Given the description of an element on the screen output the (x, y) to click on. 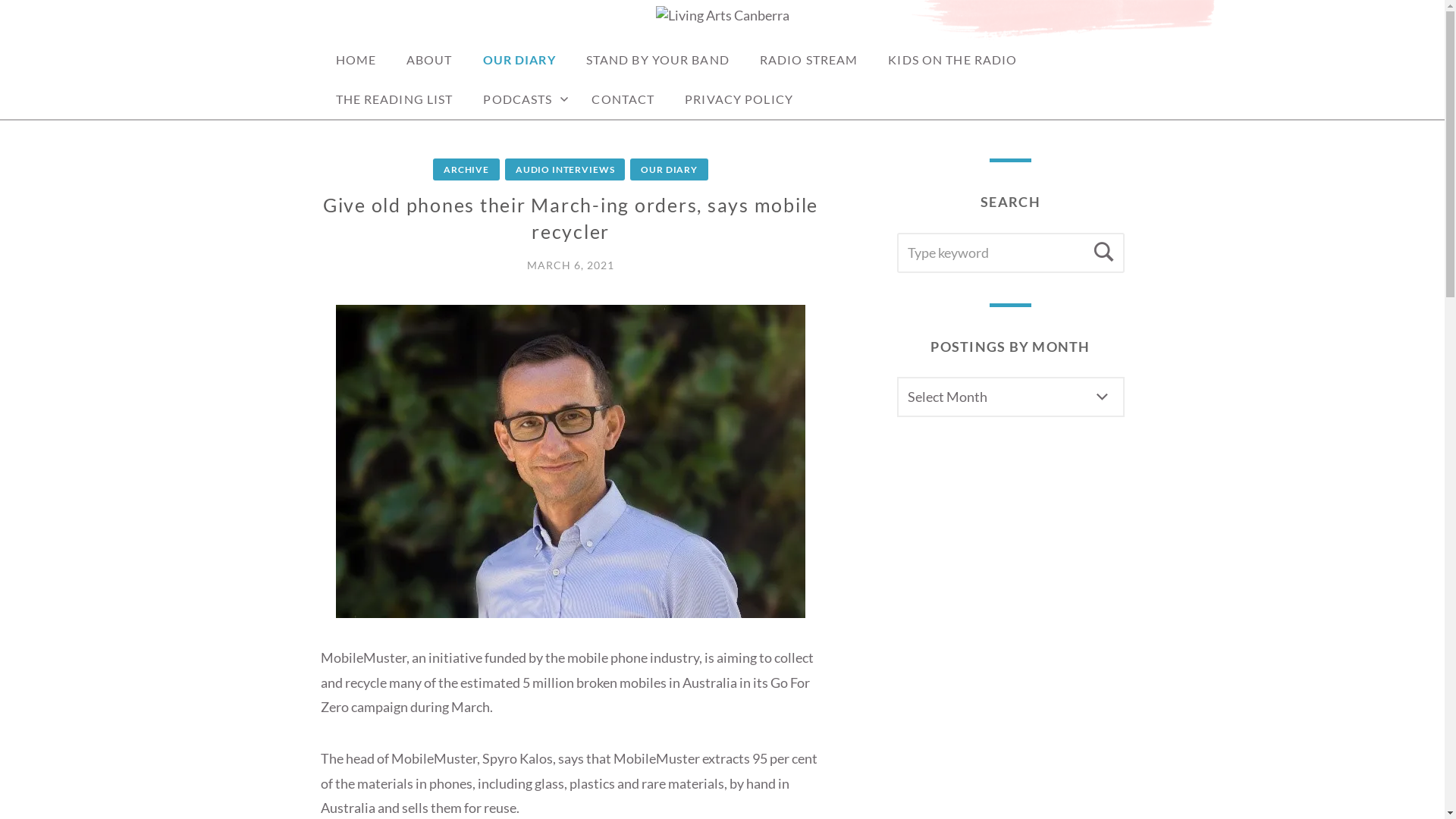
AUDIO INTERVIEWS Element type: text (564, 169)
PODCASTS Element type: text (521, 99)
THE READING LIST Element type: text (393, 99)
OUR DIARY Element type: text (669, 169)
KIDS ON THE RADIO Element type: text (952, 59)
RADIO STREAM Element type: text (808, 59)
Search Element type: text (1104, 252)
ABOUT Element type: text (429, 59)
PRIVACY POLICY Element type: text (738, 99)
LIVING ARTS CANBERRA Element type: text (514, 45)
Press Enter to submit your search Element type: hover (1009, 252)
MARCH 6, 2021 Element type: text (570, 264)
CONTACT Element type: text (622, 99)
HOME Element type: text (355, 59)
STAND BY YOUR BAND Element type: text (657, 59)
ARCHIVE Element type: text (466, 169)
OUR DIARY Element type: text (519, 59)
